Given the description of an element on the screen output the (x, y) to click on. 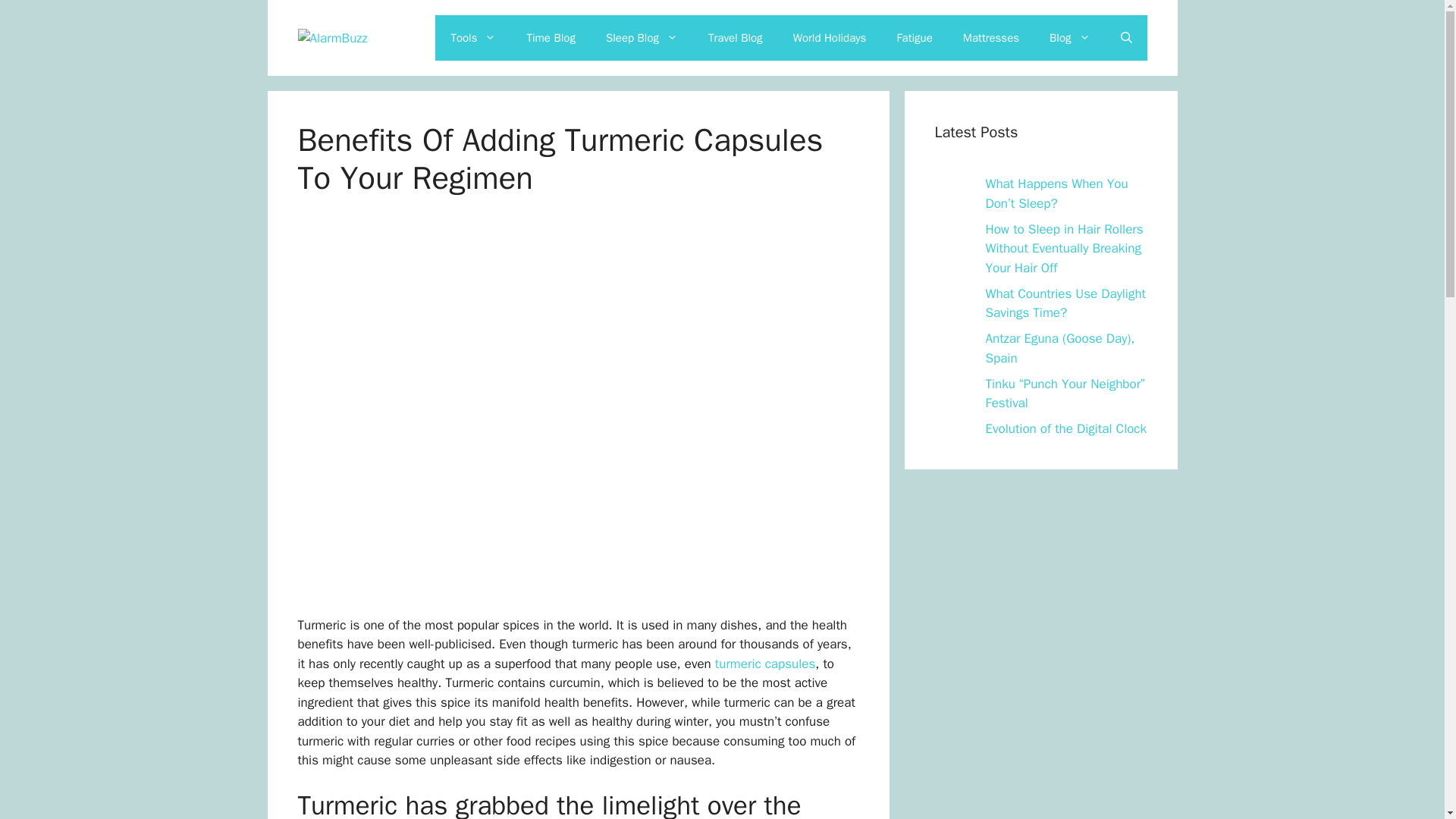
Tools (473, 37)
Sleep Blog (642, 37)
Time Blog (550, 37)
